Given the description of an element on the screen output the (x, y) to click on. 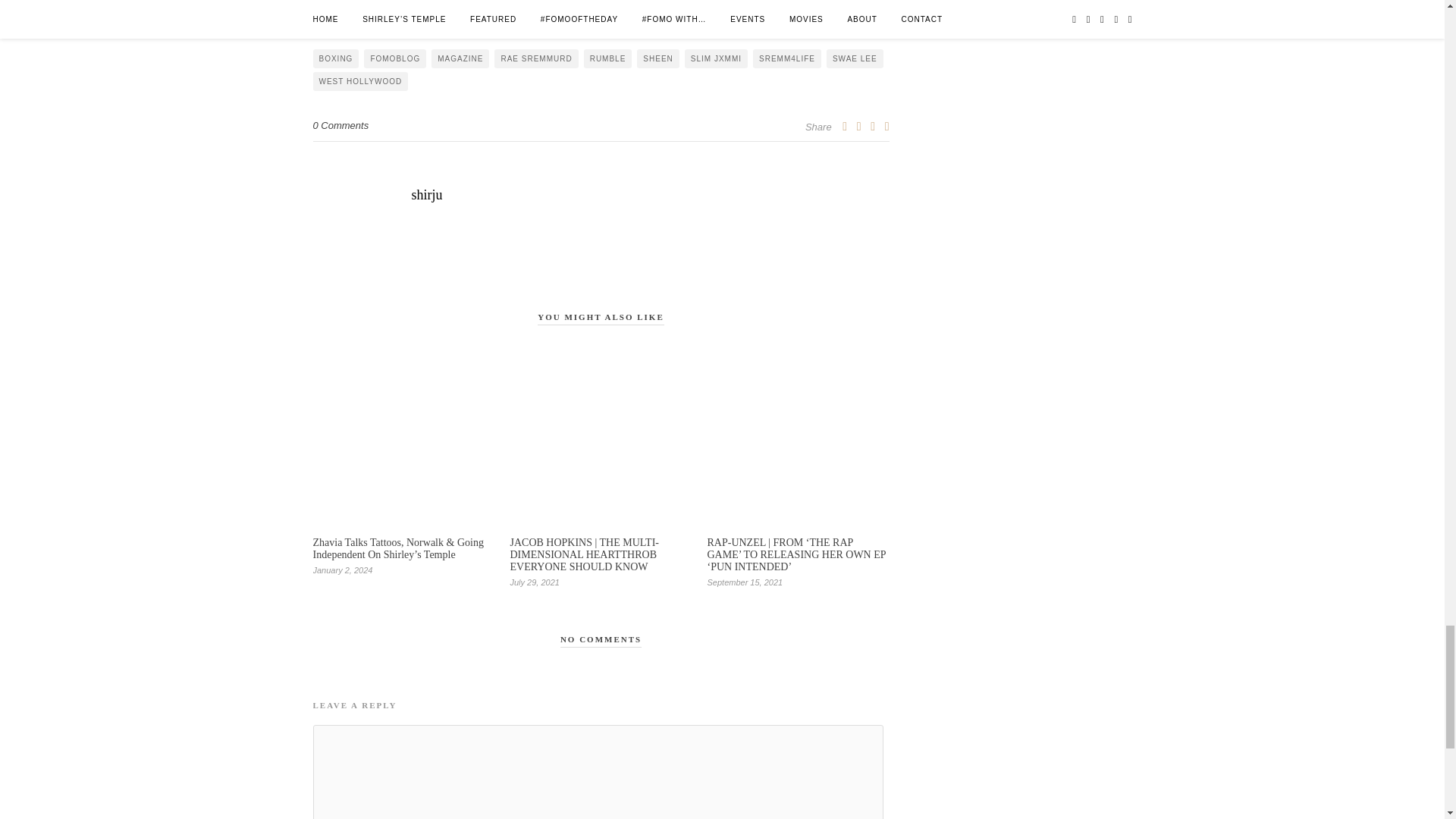
shirju (600, 195)
SHEEN (657, 58)
0 Comments (340, 125)
SREMM4LIFE (786, 58)
SLIM JXMMI (716, 58)
BOXING (335, 58)
FOMOBLOG (395, 58)
RUMBLE (607, 58)
Posts by shirju (600, 195)
MAGAZINE (459, 58)
